Given the description of an element on the screen output the (x, y) to click on. 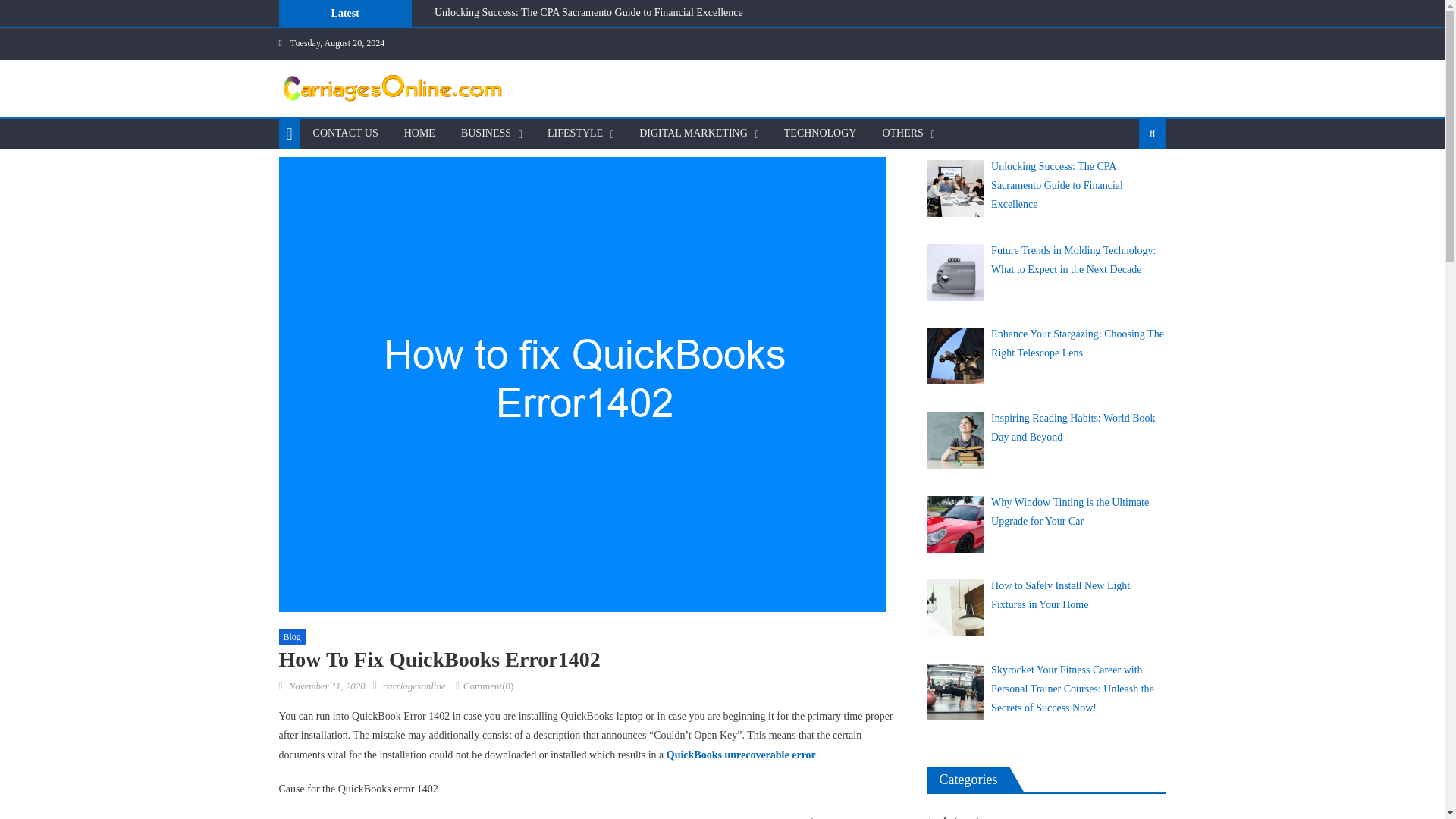
HOME (419, 133)
Search (1128, 182)
CONTACT US (345, 133)
DIGITAL MARKETING (692, 133)
Blog (292, 637)
OTHERS (902, 133)
BUSINESS (485, 133)
LIFESTYLE (574, 133)
